Given the description of an element on the screen output the (x, y) to click on. 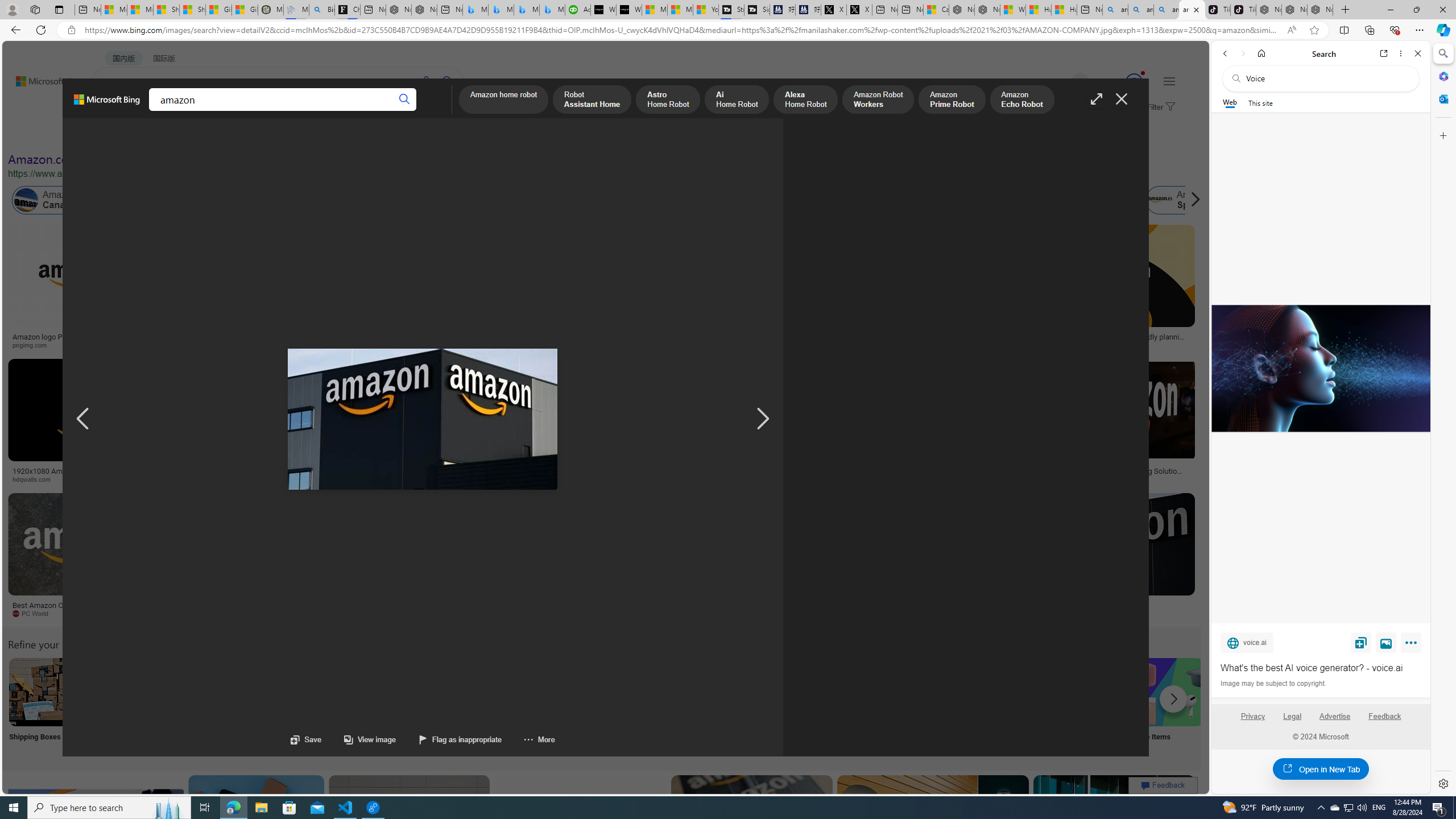
mytotalretail.com (180, 344)
Nordace - Siena Pro 15 Essential Set (1320, 9)
Save (306, 739)
pngimg.com (34, 344)
What's the best AI voice generator? - voice.ai (1320, 667)
AutomationID: navl (82, 418)
Amazon Cloud (320, 200)
Legal (1292, 720)
